Given the description of an element on the screen output the (x, y) to click on. 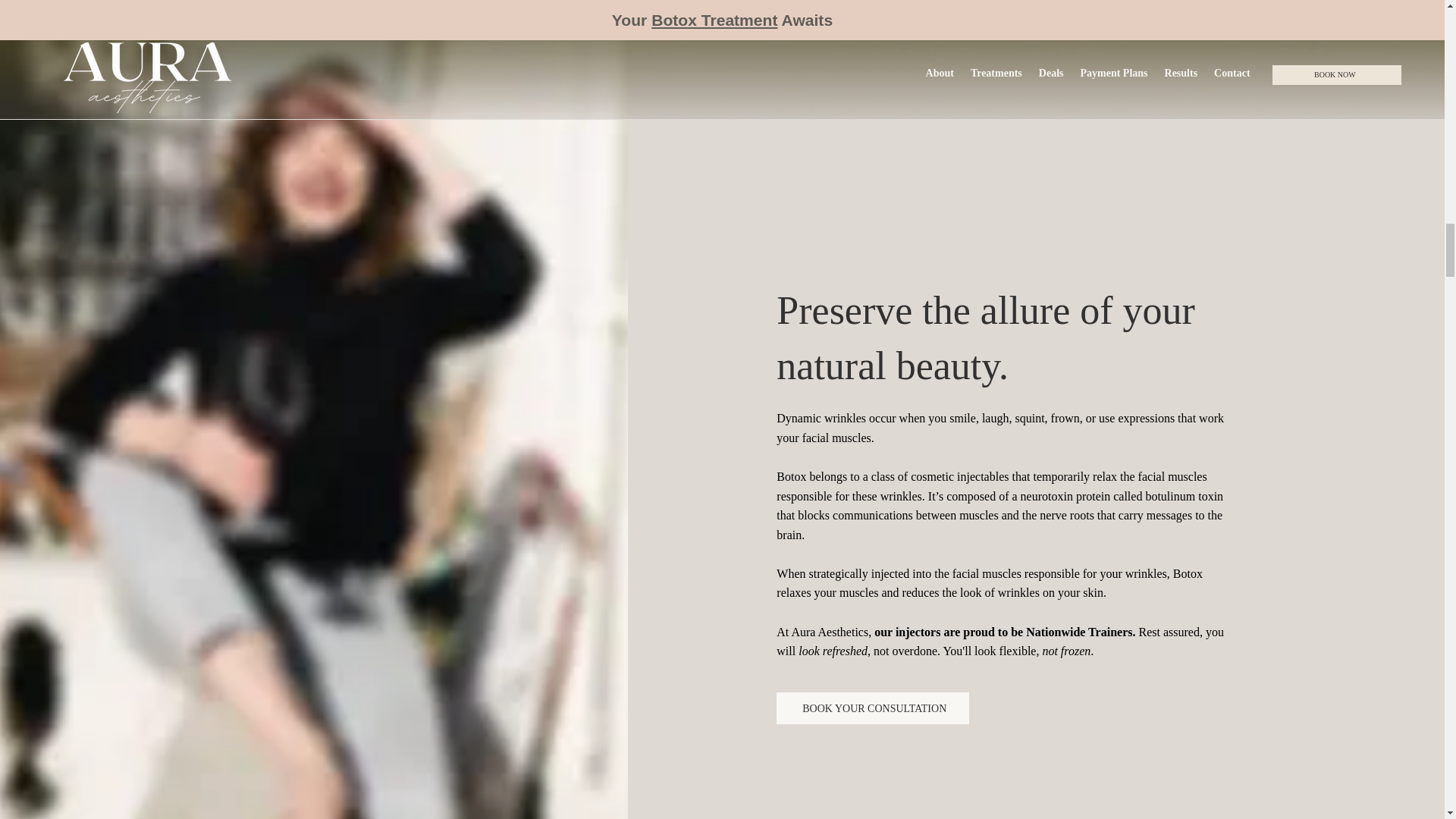
BOOK YOUR CONSULTATION (872, 707)
